Given the description of an element on the screen output the (x, y) to click on. 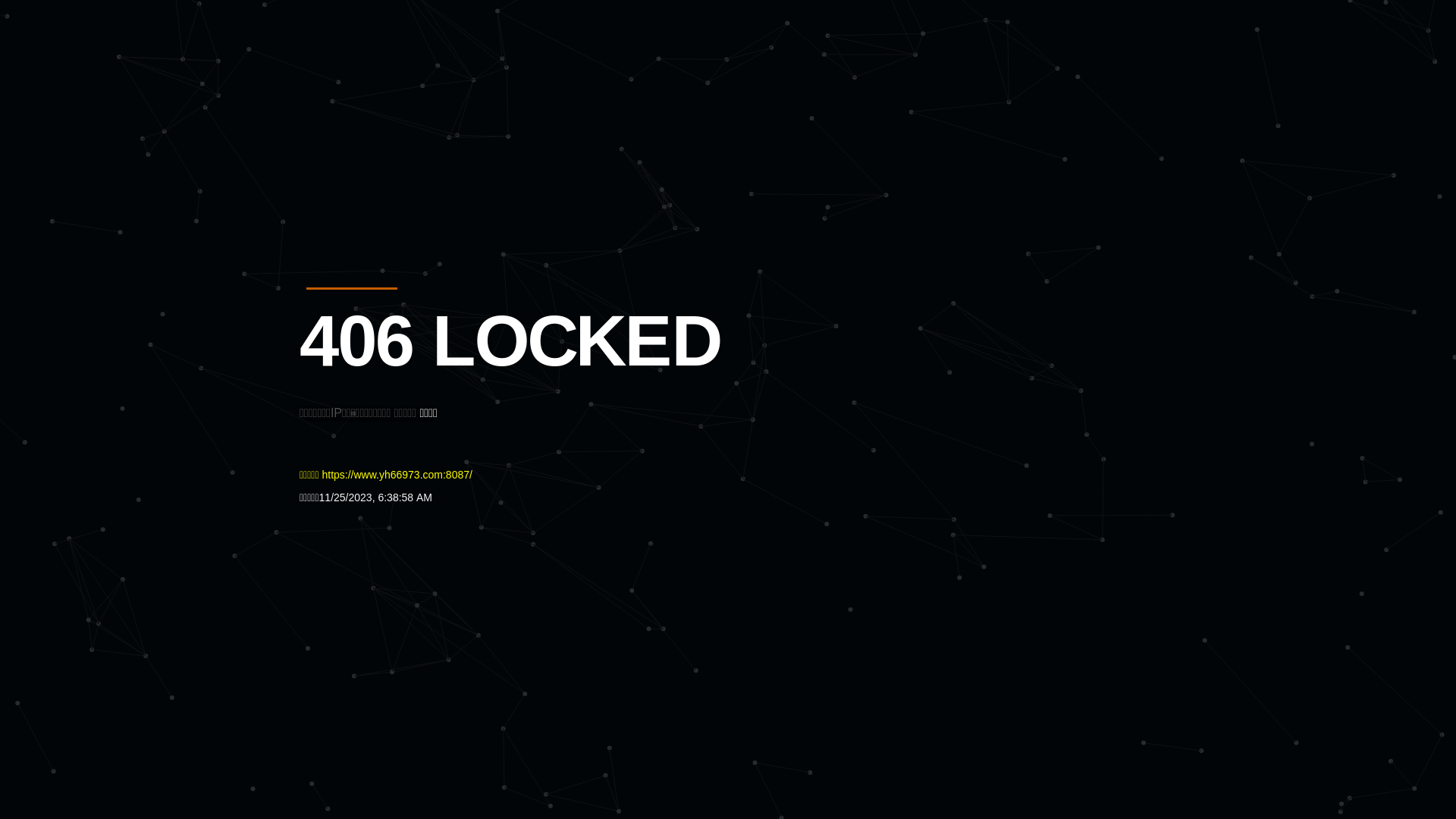
Quatro Element type: text (410, 86)
